Given the description of an element on the screen output the (x, y) to click on. 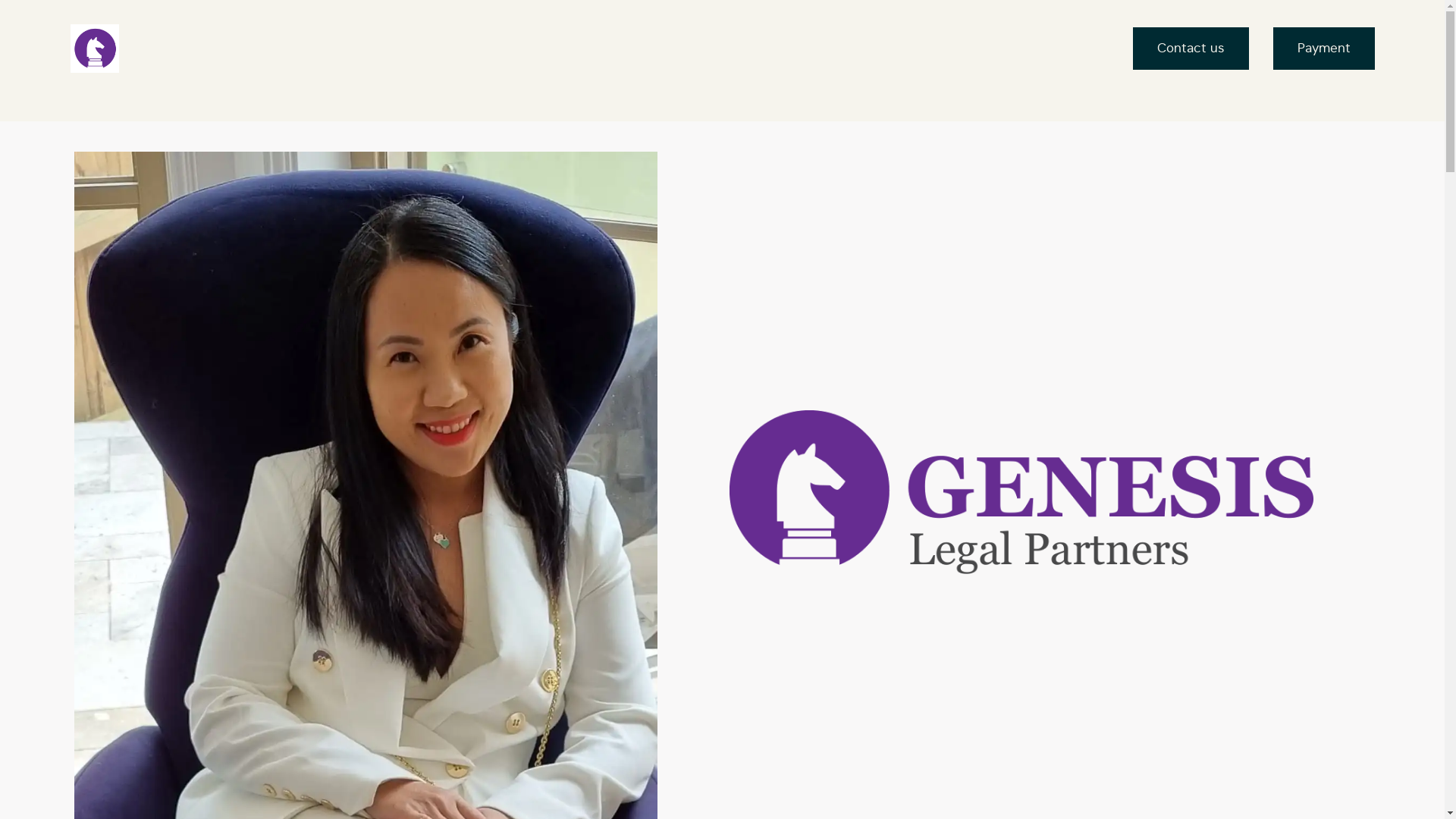
Contact us Element type: text (1190, 48)
Payment Element type: text (1323, 48)
